Given the description of an element on the screen output the (x, y) to click on. 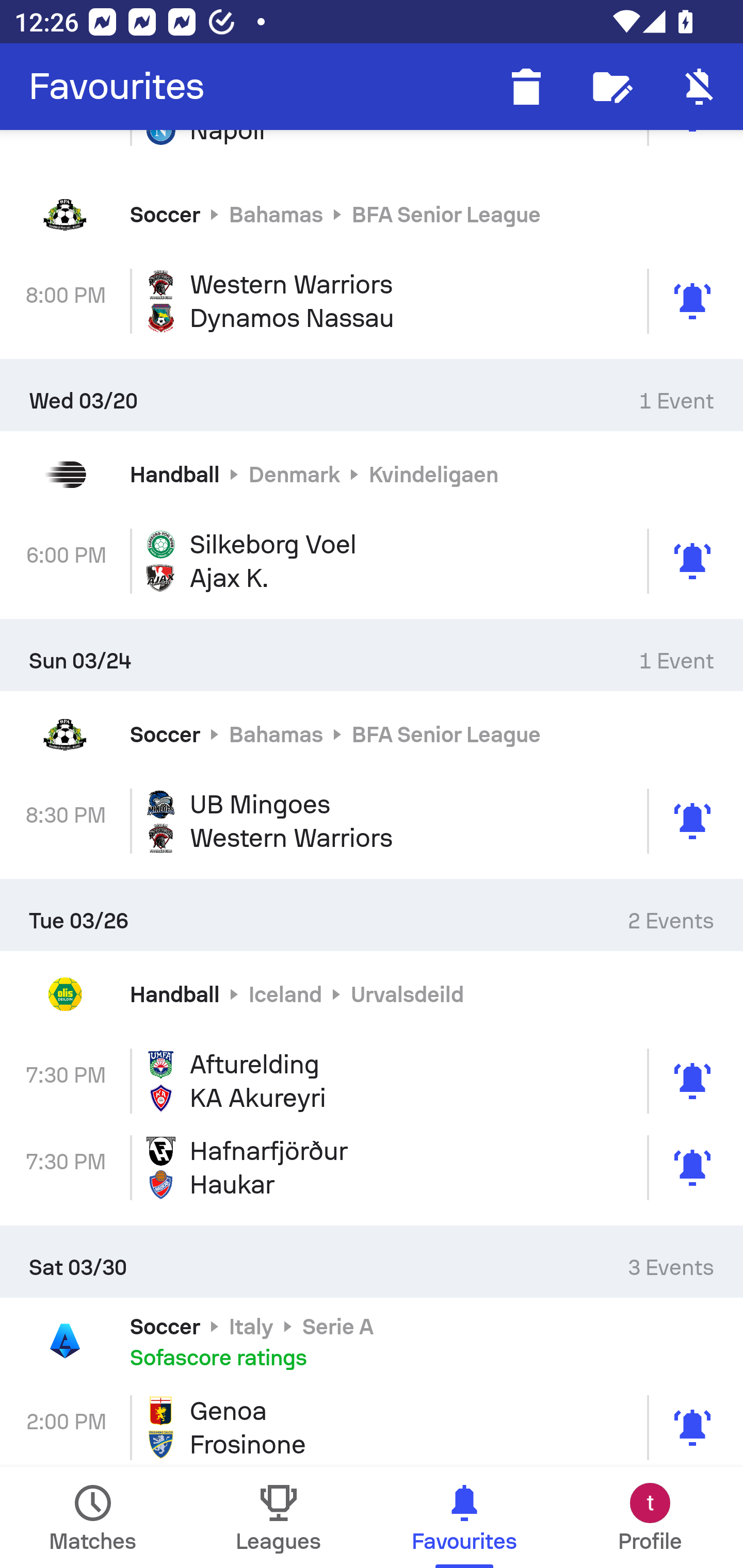
Favourites (116, 86)
Delete finished (525, 86)
Follow editor (612, 86)
Enable notifications (699, 86)
Soccer Bahamas BFA Senior League (371, 213)
8:00 PM Western Warriors Dynamos Nassau (371, 300)
Wed 03/20 1 Event (371, 395)
Handball Denmark Kvindeligaen (371, 474)
6:00 PM Silkeborg Voel Ajax K. (371, 561)
Sun 03/24 1 Event (371, 655)
Soccer Bahamas BFA Senior League (371, 734)
8:30 PM UB Mingoes Western Warriors (371, 820)
Tue 03/26 2 Events (371, 915)
Handball Iceland Urvalsdeild (371, 994)
7:30 PM Afturelding KA Akureyri (371, 1081)
7:30 PM Hafnarfjörður Haukar (371, 1167)
Sat 03/30 3 Events (371, 1262)
Soccer Italy Serie A Sofascore ratings (371, 1341)
2:00 PM Genoa Frosinone (371, 1425)
Matches (92, 1517)
Leagues (278, 1517)
Profile (650, 1517)
